Given the description of an element on the screen output the (x, y) to click on. 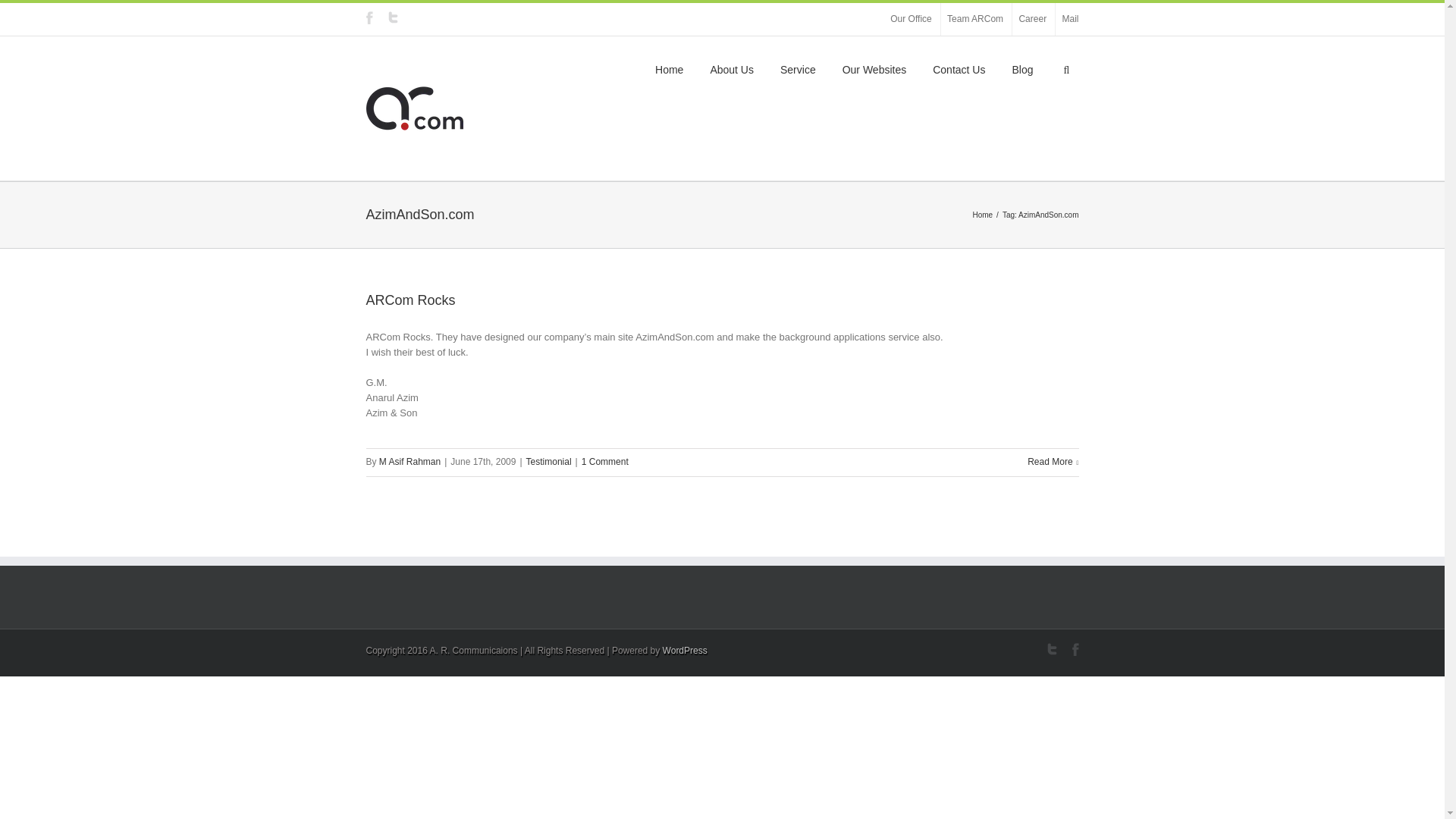
Twitter Element type: text (1051, 649)
Mail Element type: text (1069, 18)
Contact Us Element type: text (958, 68)
Blog Element type: text (1021, 68)
Facebook Element type: text (1075, 649)
WordPress Element type: text (684, 650)
About Us Element type: text (731, 68)
Home Element type: text (669, 68)
Service Element type: text (797, 68)
1 Comment Element type: text (604, 461)
Home Element type: text (984, 214)
Our Office Element type: text (910, 18)
Career Element type: text (1032, 18)
Our Websites Element type: text (874, 68)
Facebook Element type: text (368, 17)
ARCom Rocks Element type: text (410, 299)
Twitter Element type: text (393, 17)
Testimonial Element type: text (548, 461)
M Asif Rahman Element type: text (409, 461)
Read More Element type: text (1052, 461)
Team ARCom Element type: text (975, 18)
